Given the description of an element on the screen output the (x, y) to click on. 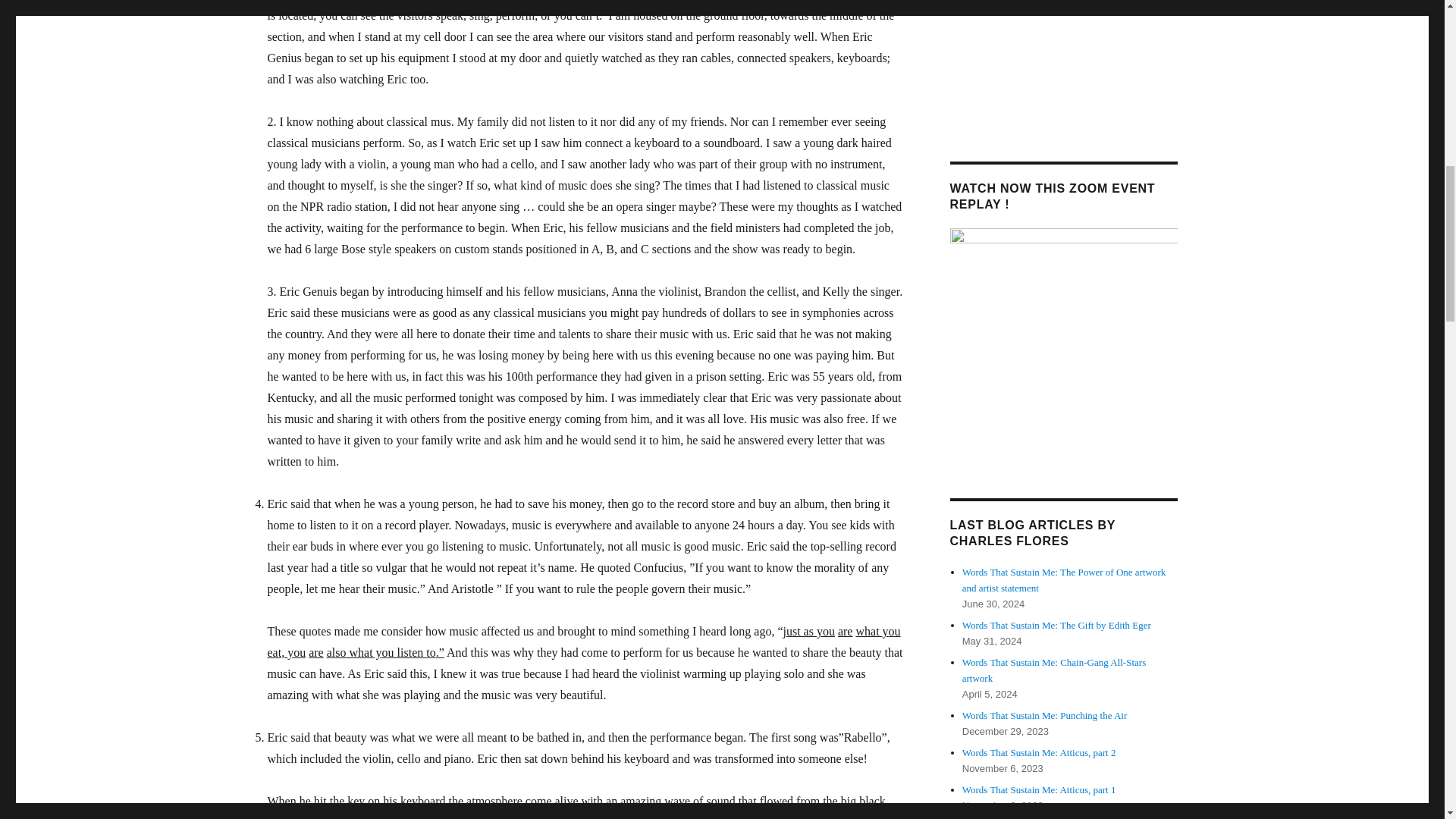
Anatomy of a Wrongful Conviction (1062, 341)
